Given the description of an element on the screen output the (x, y) to click on. 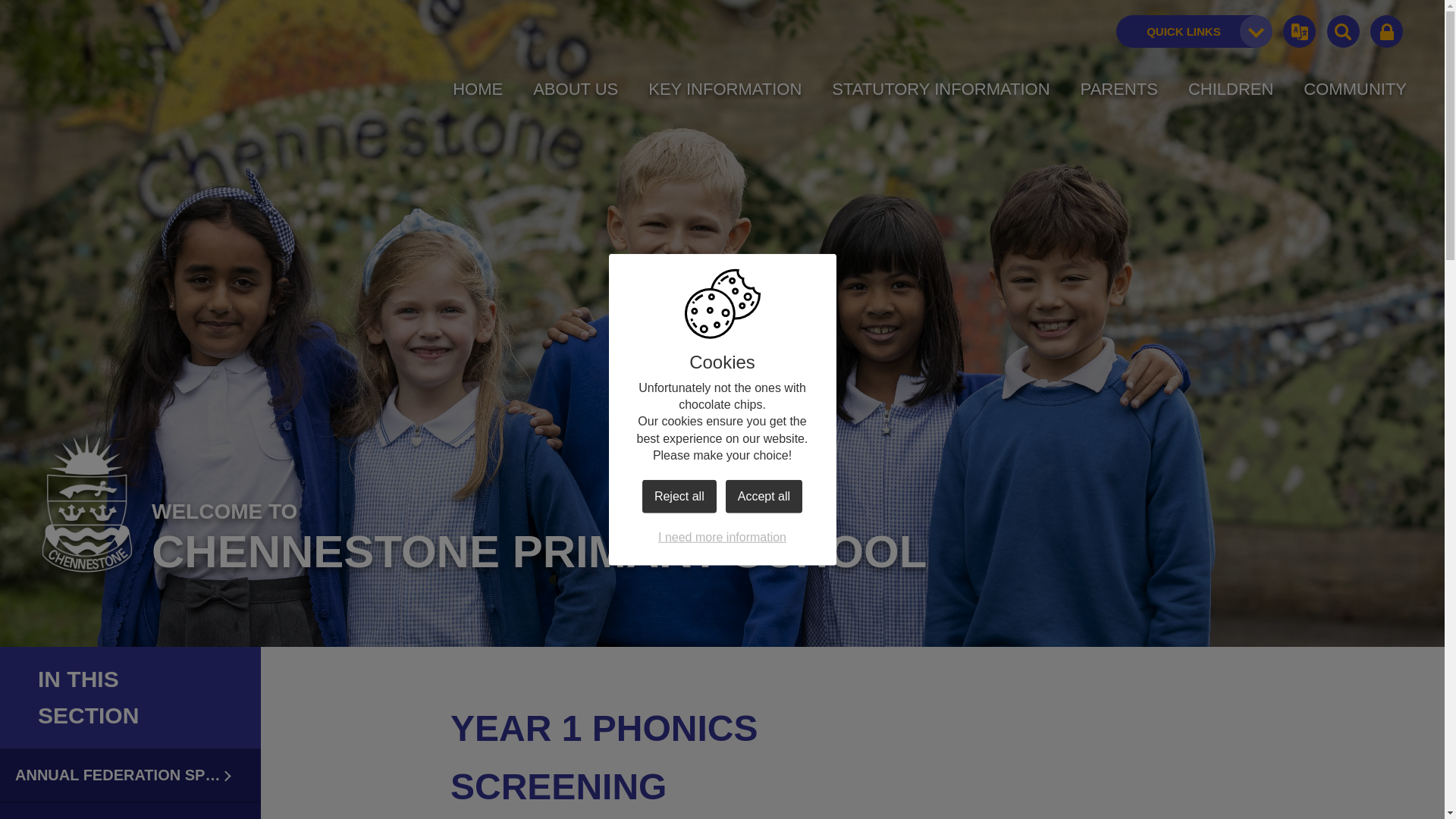
ABOUT US (574, 89)
KEY INFORMATION (724, 89)
Log in (1386, 32)
HOME (477, 89)
